Given the description of an element on the screen output the (x, y) to click on. 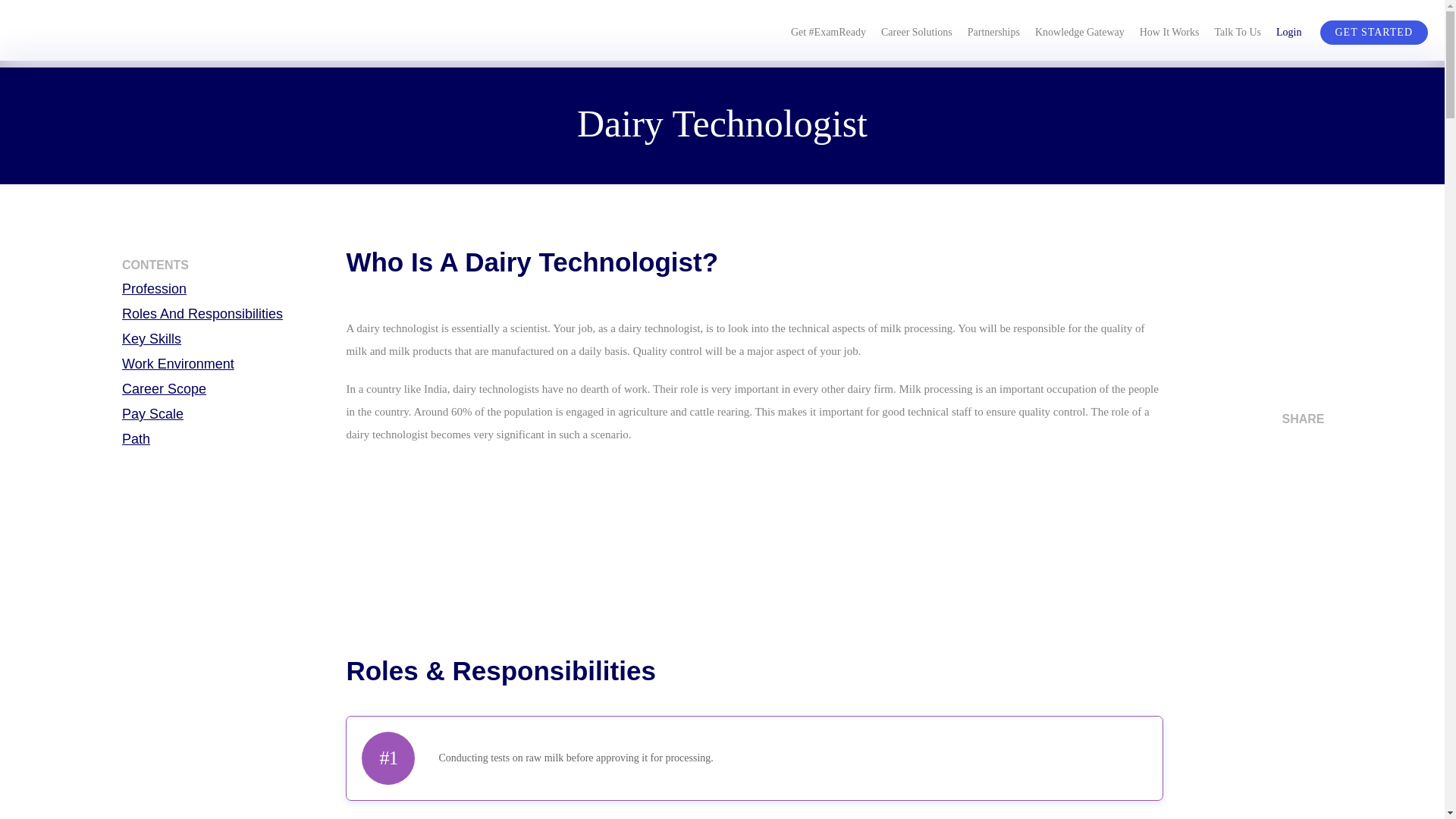
Profession (228, 288)
Path (228, 438)
Mentoria (123, 34)
Key Skills (228, 338)
Roles And Responsibilities (228, 313)
Career Solutions (916, 30)
Career Scope (228, 388)
Work Environment (228, 363)
Pay Scale (228, 413)
